Given the description of an element on the screen output the (x, y) to click on. 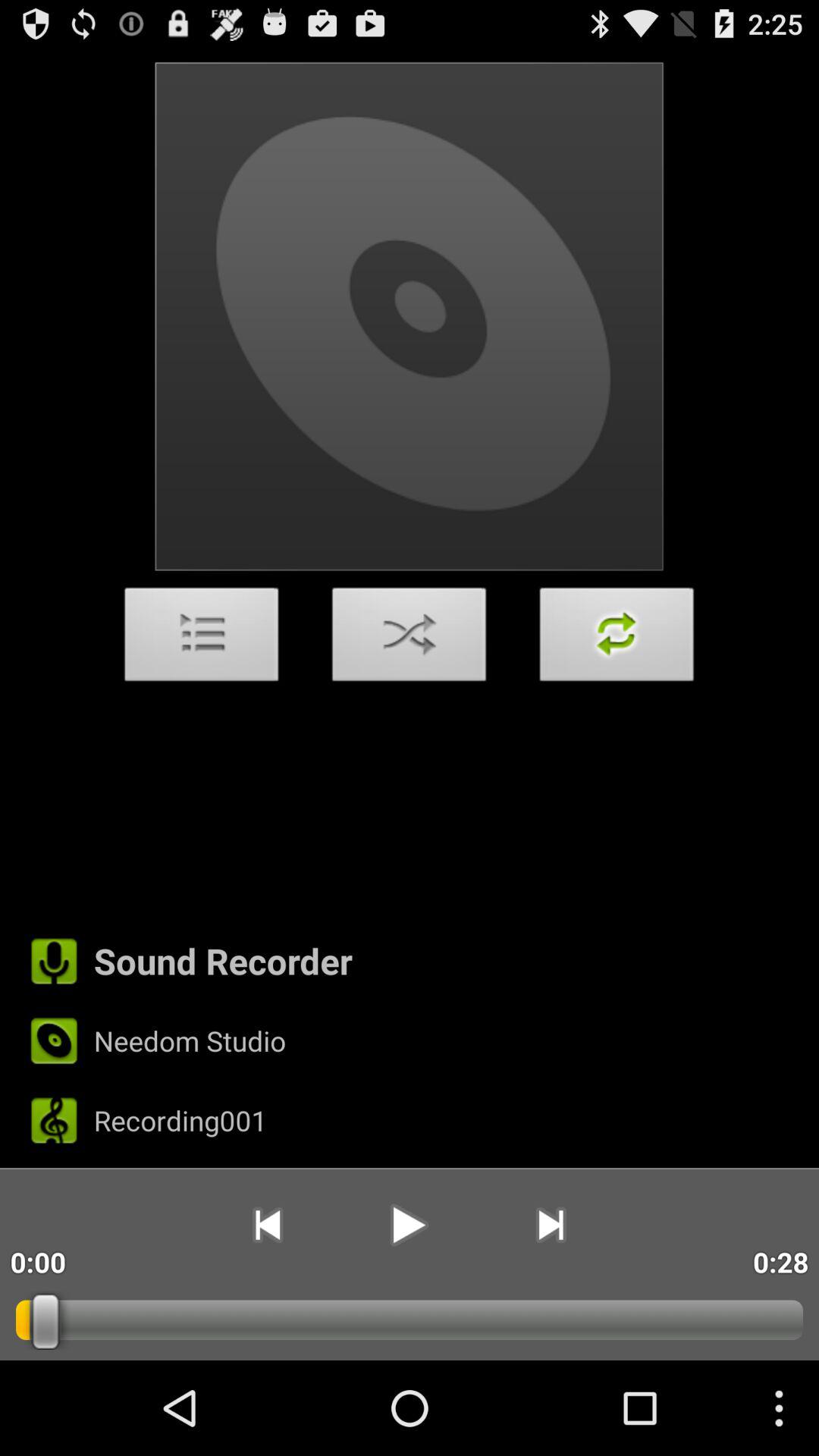
open the app above the sound recorder (409, 638)
